Given the description of an element on the screen output the (x, y) to click on. 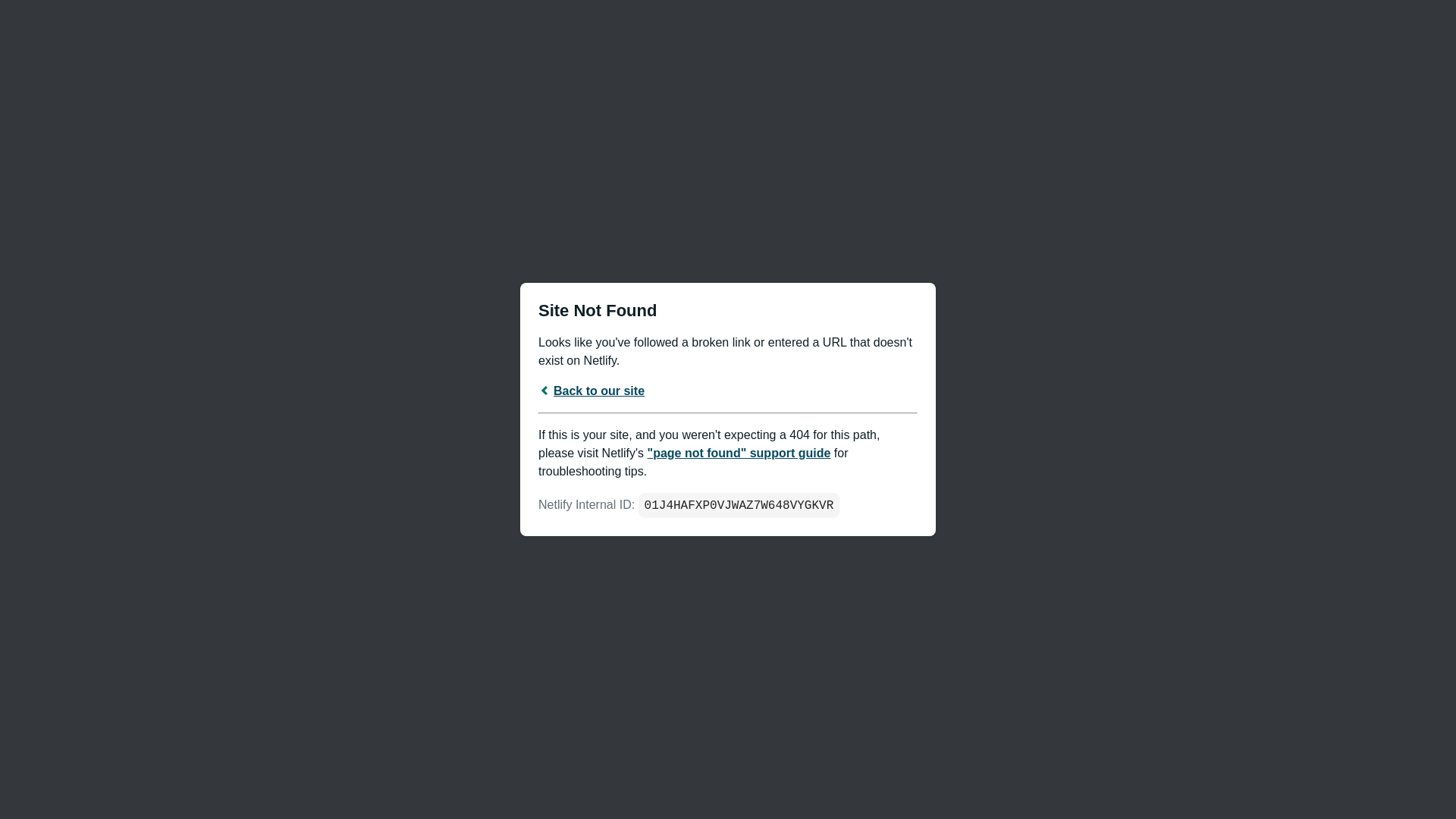
"page not found" support guide (739, 452)
Back to our site (591, 390)
